Given the description of an element on the screen output the (x, y) to click on. 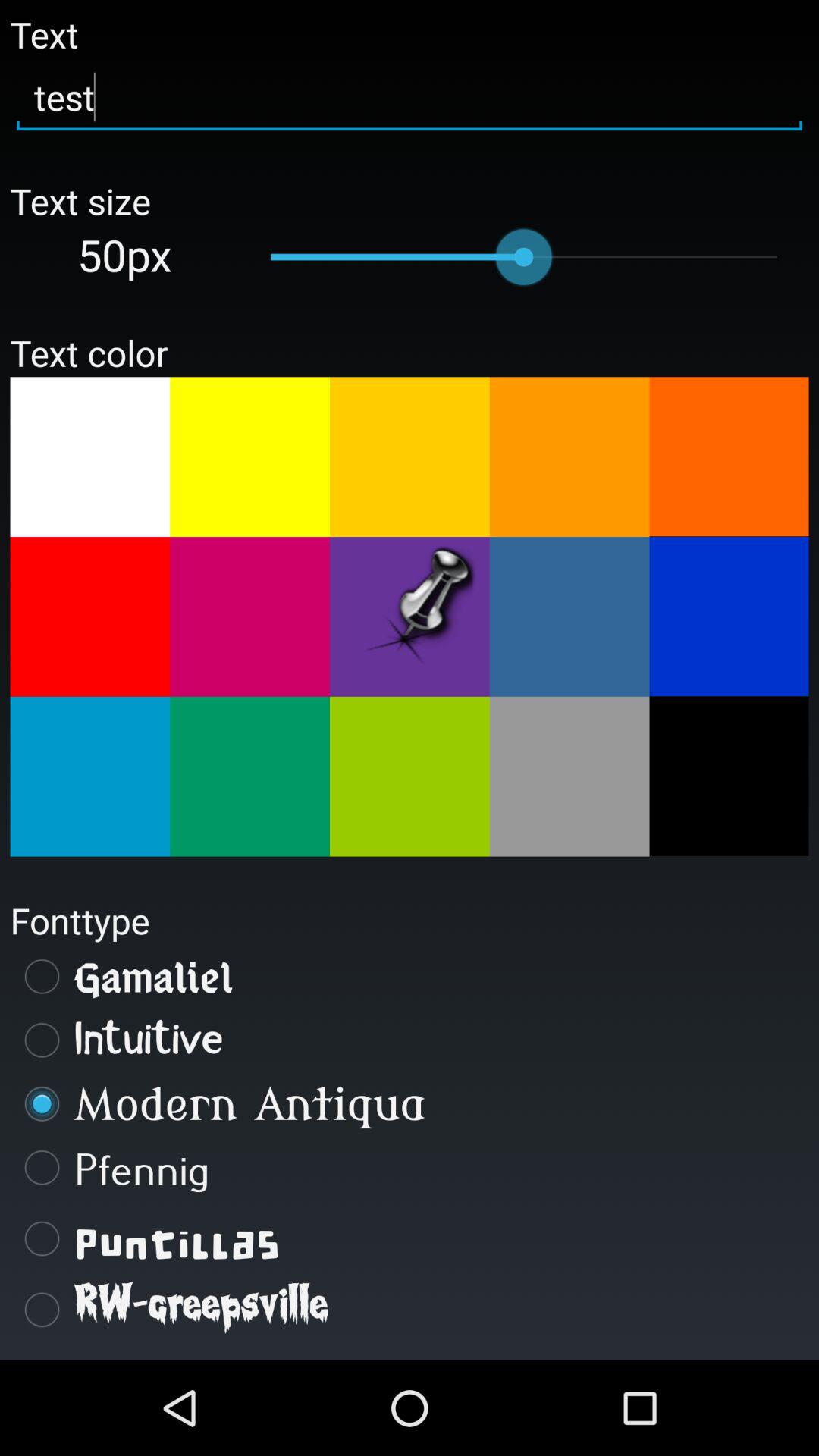
select the colour black (728, 775)
